Given the description of an element on the screen output the (x, y) to click on. 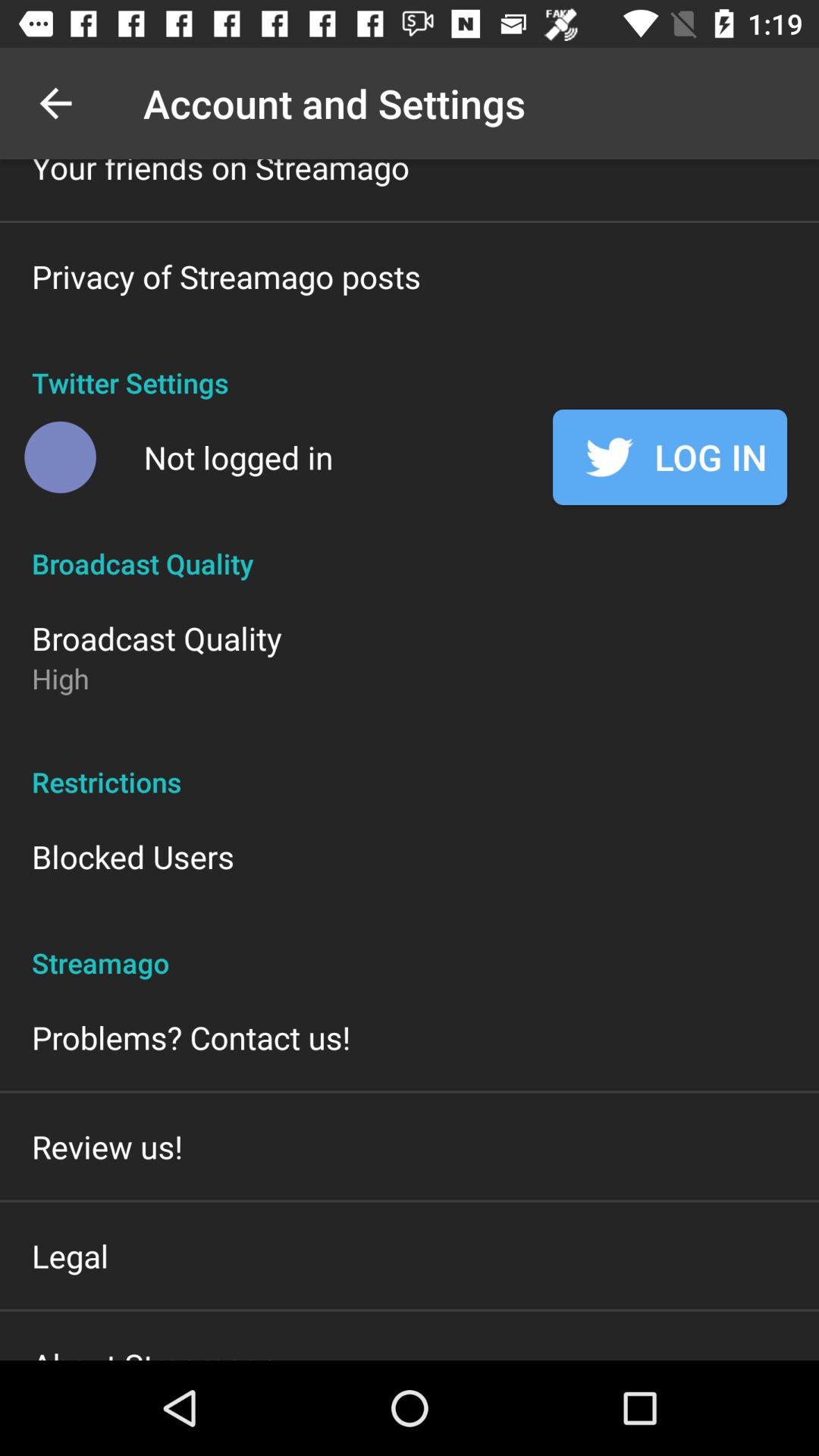
launch icon next to not logged in icon (60, 457)
